Given the description of an element on the screen output the (x, y) to click on. 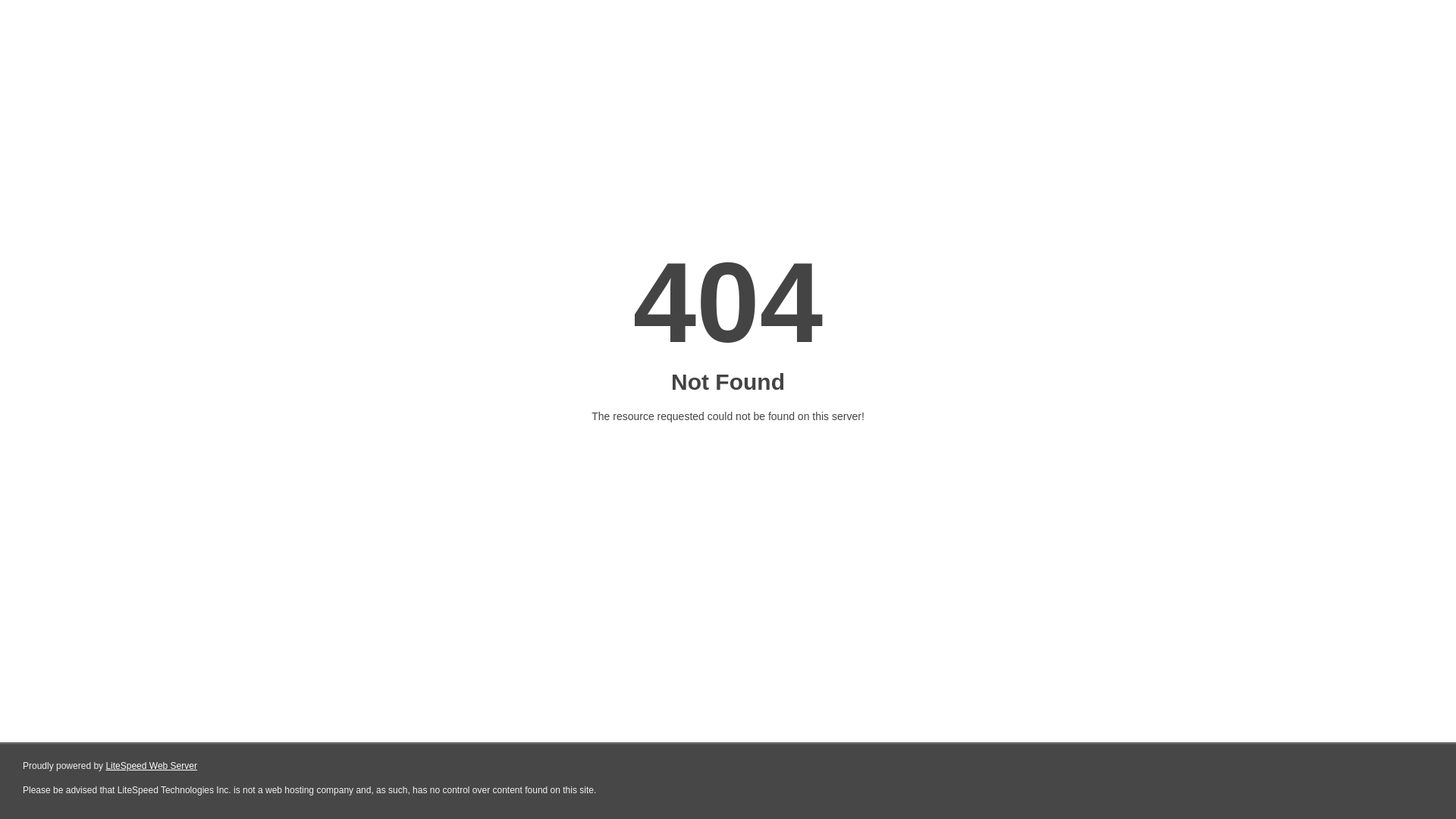
LiteSpeed Web Server Element type: text (151, 765)
